Given the description of an element on the screen output the (x, y) to click on. 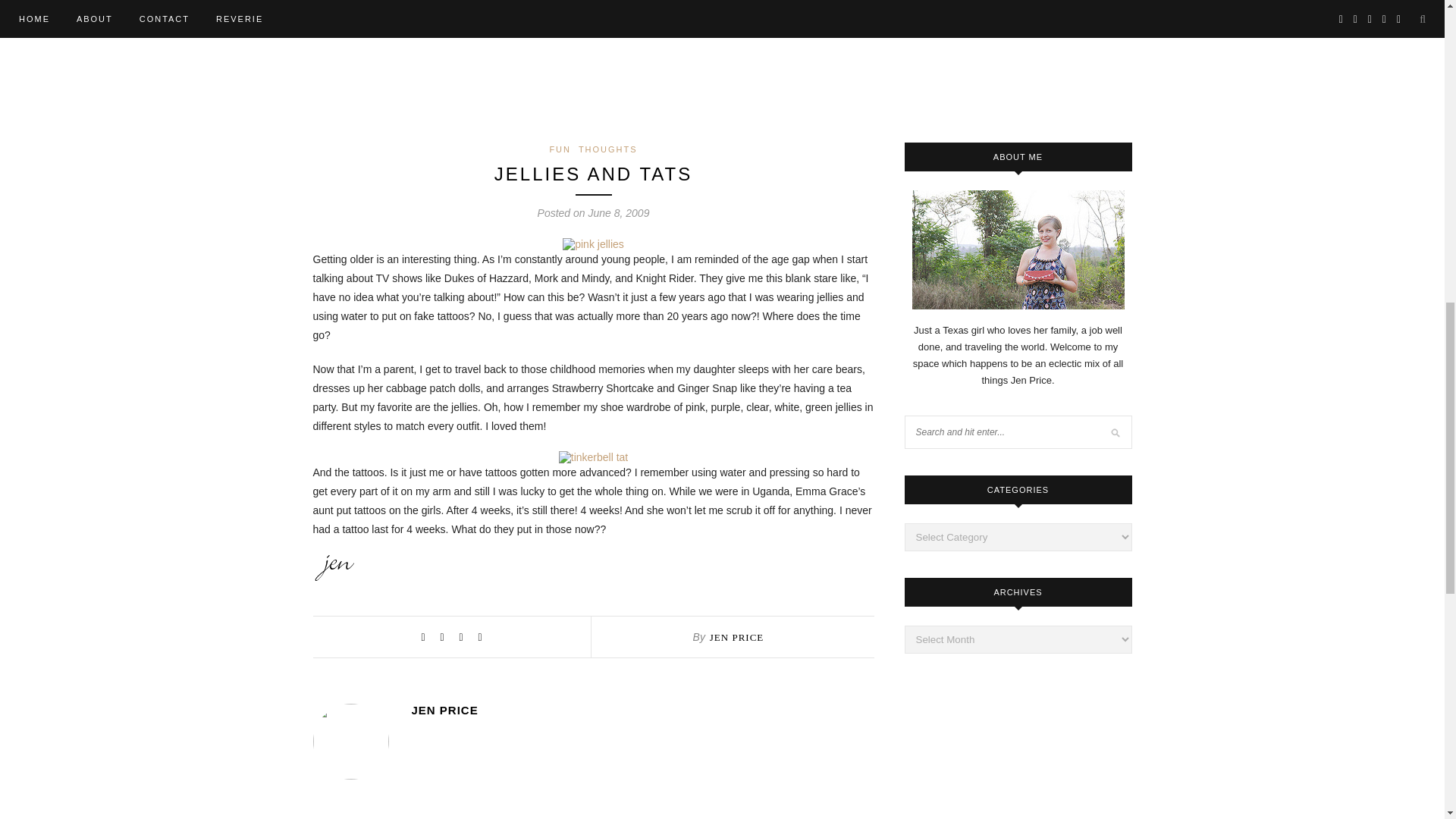
JEN PRICE (736, 636)
THOUGHTS (607, 148)
JEN PRICE (641, 709)
tinkerbell tat by i believe in love, on Flickr (593, 457)
pink jellies by i believe in love, on Flickr (593, 244)
Posts by Jen Price (641, 709)
FUN (559, 148)
Posts by Jen Price (736, 636)
